Given the description of an element on the screen output the (x, y) to click on. 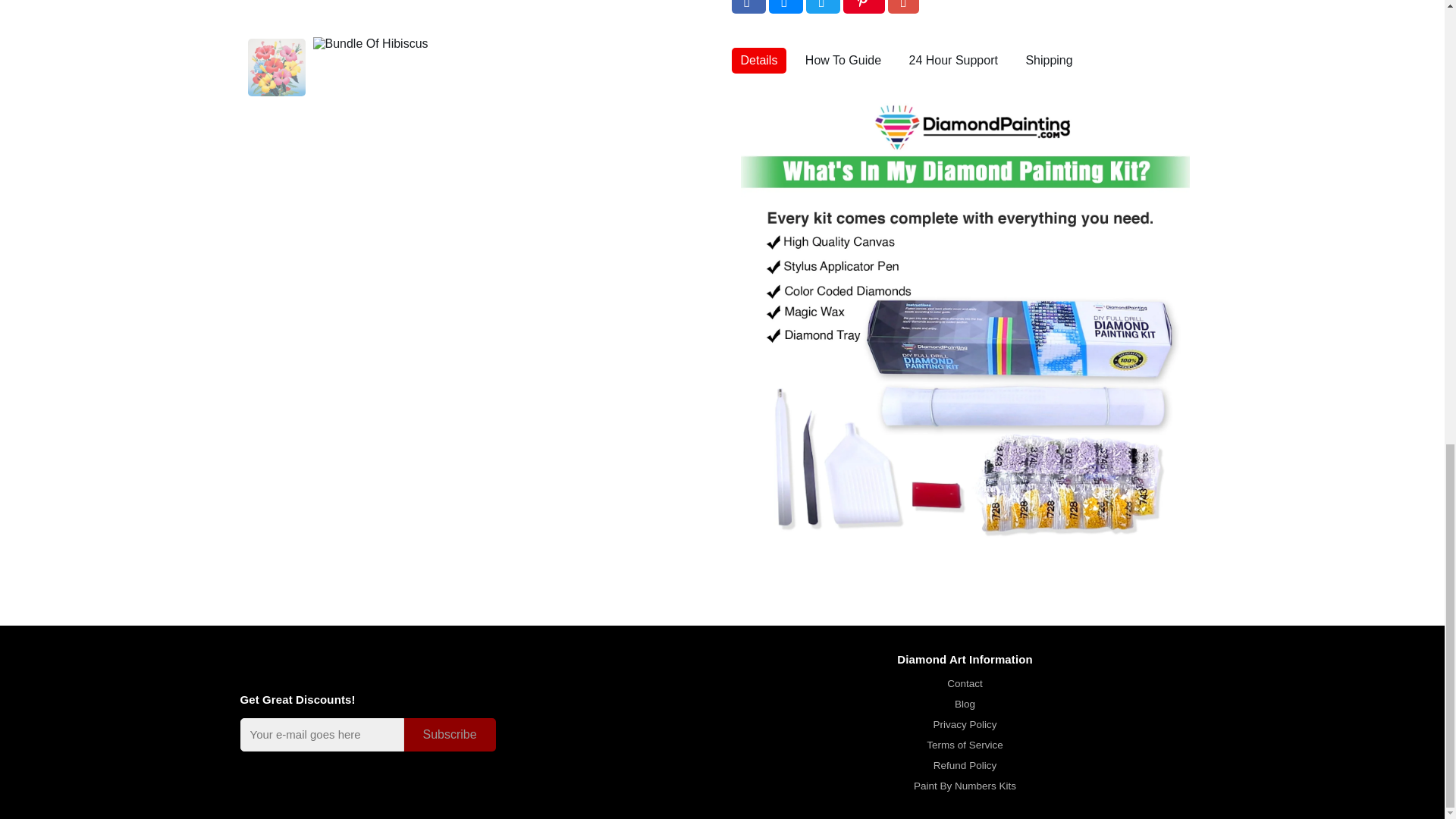
Contact (964, 683)
Blog (964, 704)
Paint By Numbers Kits (964, 785)
Privacy Policy (964, 724)
Terms of Service (964, 745)
Subscribe (449, 734)
Refund Policy (964, 765)
